Given the description of an element on the screen output the (x, y) to click on. 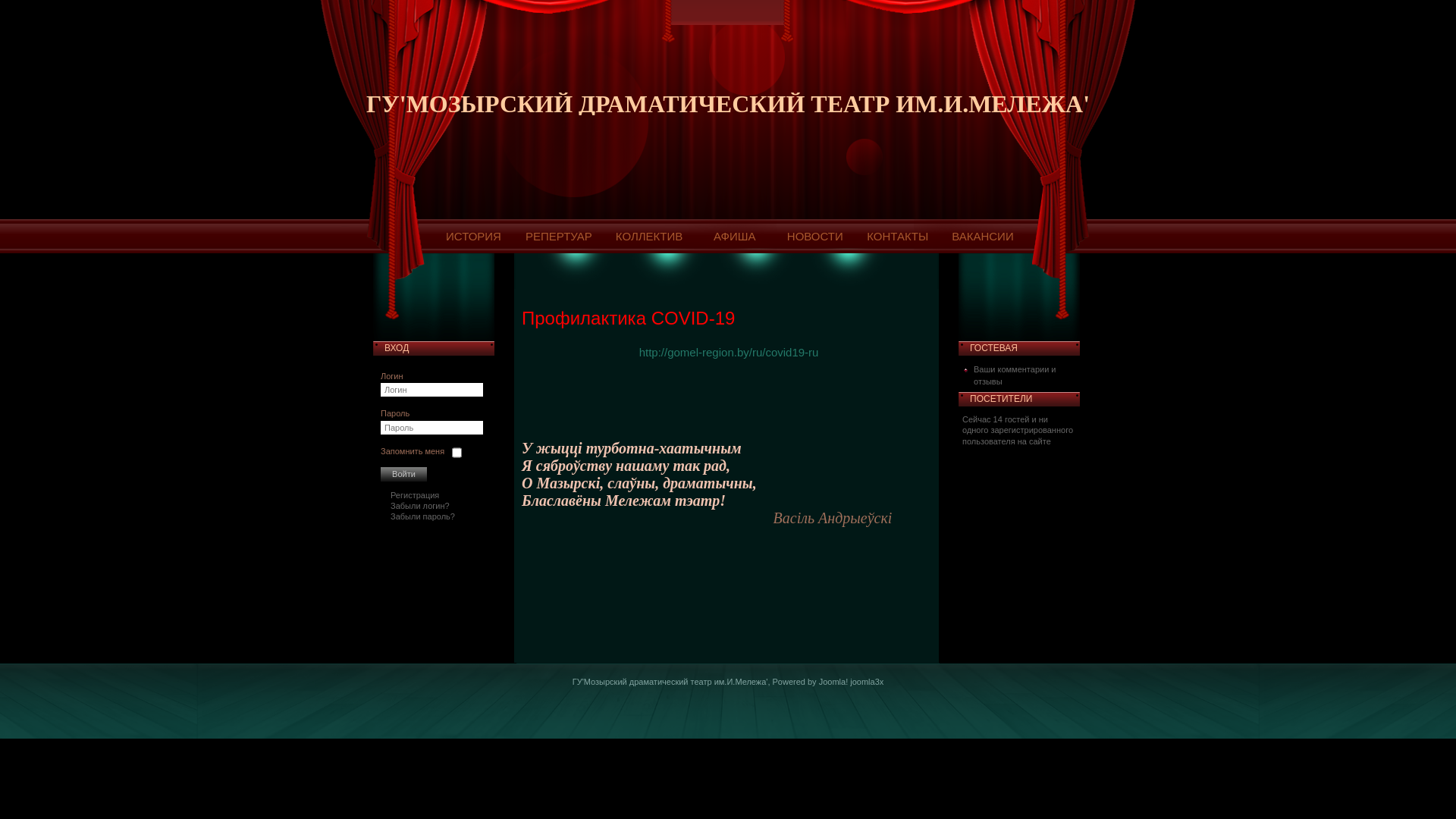
joomla3x Element type: text (866, 681)
Joomla! Element type: text (833, 681)
http://gomel-region.by/ru/covid19-ru Element type: text (729, 351)
